Given the description of an element on the screen output the (x, y) to click on. 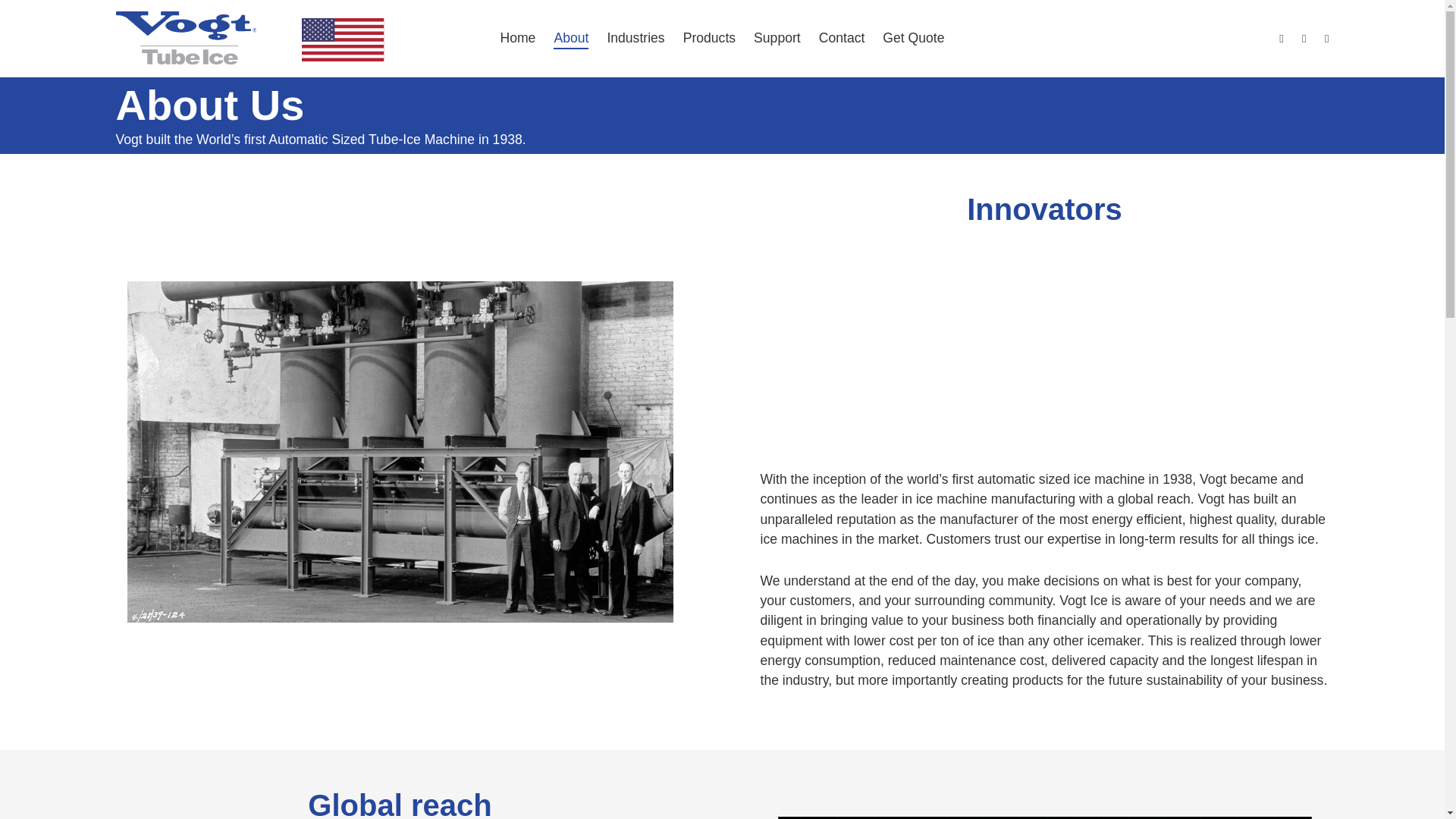
Support (776, 38)
Industries (634, 38)
Products (709, 38)
Contact (842, 38)
Get Quote (913, 38)
About (570, 38)
Home (517, 38)
